Given the description of an element on the screen output the (x, y) to click on. 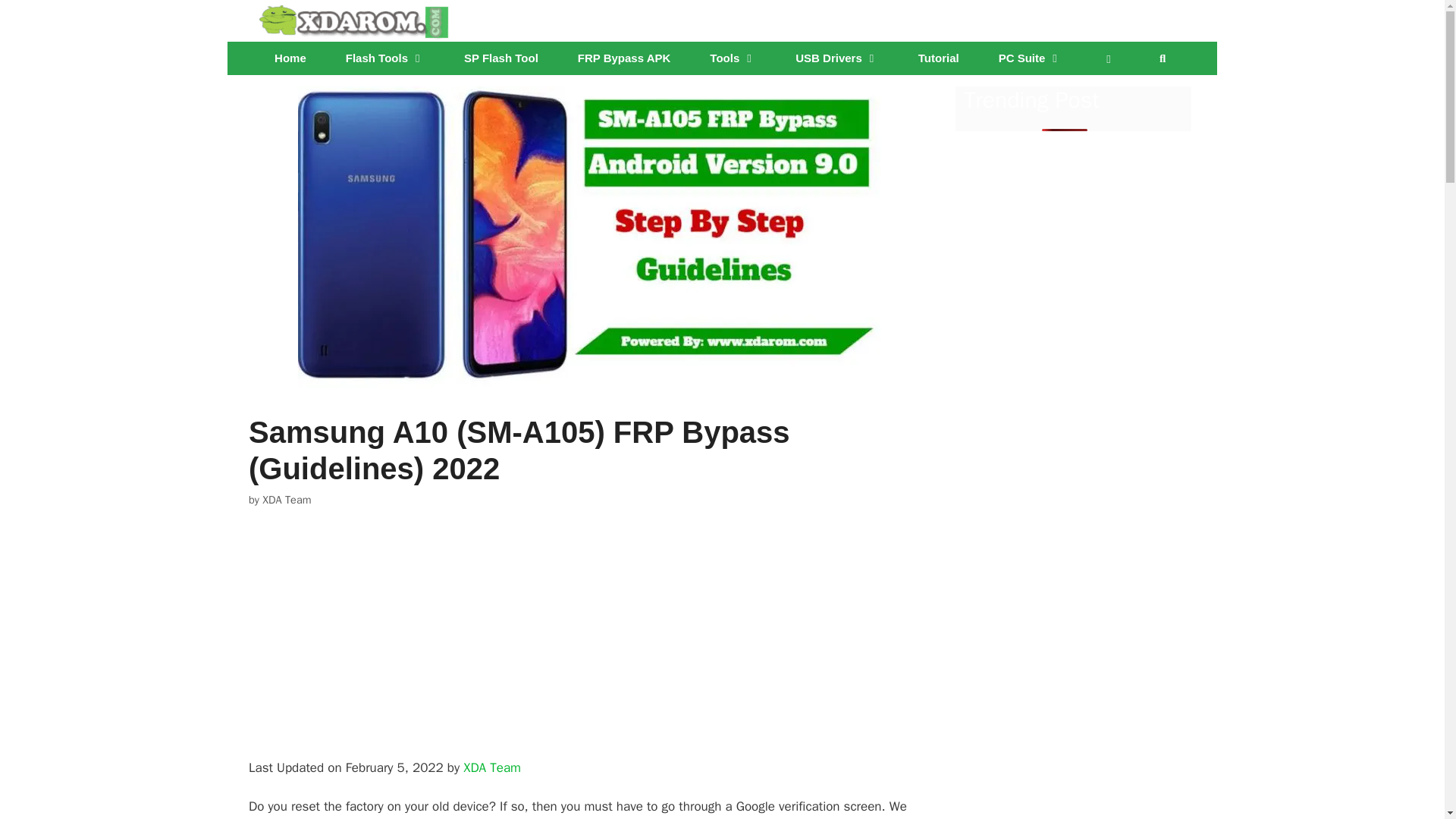
Home (290, 58)
SP Flash Tool (500, 58)
Flash Tools (385, 58)
Tools (733, 58)
View all posts by XDA Team (286, 499)
FRP Bypass APK (623, 58)
